Given the description of an element on the screen output the (x, y) to click on. 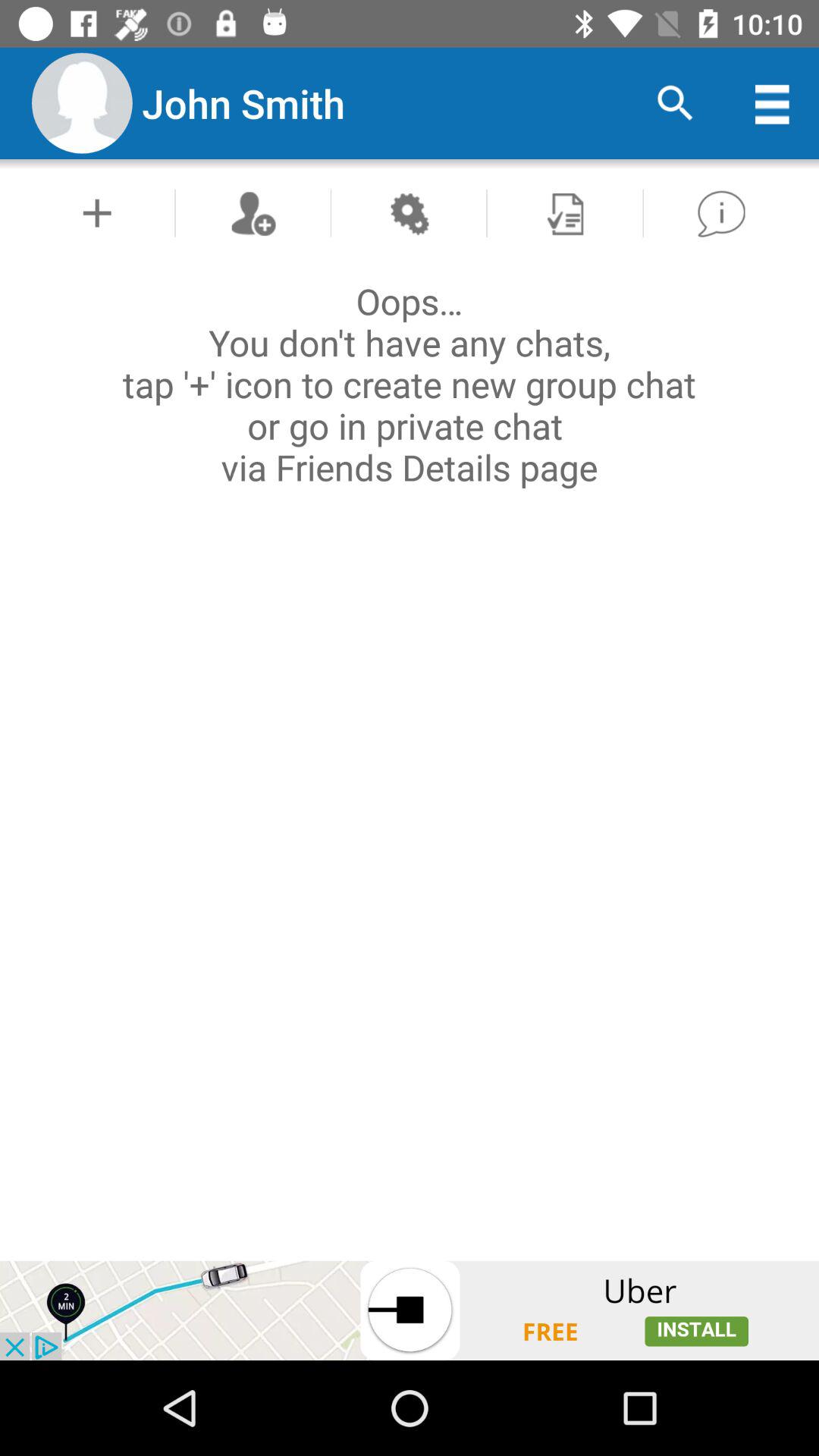
get uber app (409, 1310)
